Given the description of an element on the screen output the (x, y) to click on. 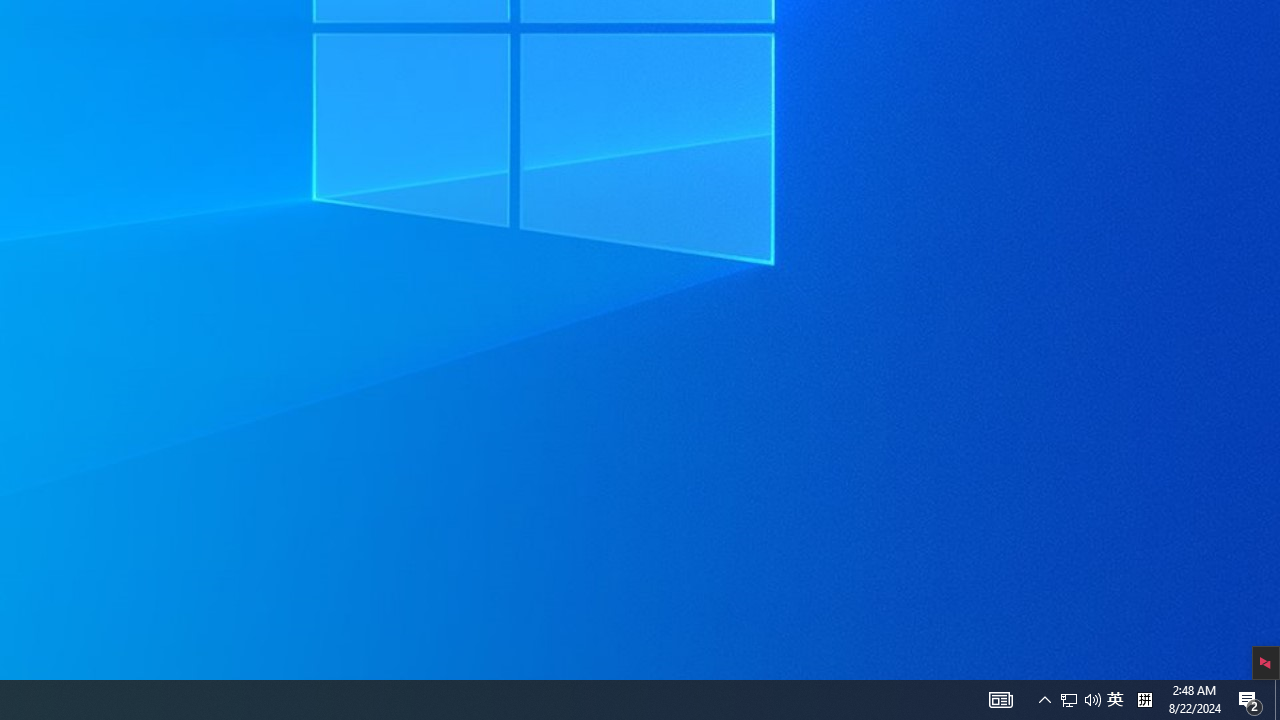
User Promoted Notification Area (1069, 699)
Q2790: 100% (1080, 699)
Notification Chevron (1092, 699)
Action Center, 2 new notifications (1044, 699)
Show desktop (1250, 699)
Tray Input Indicator - Chinese (Simplified, China) (1115, 699)
AutomationID: 4105 (1277, 699)
